Given the description of an element on the screen output the (x, y) to click on. 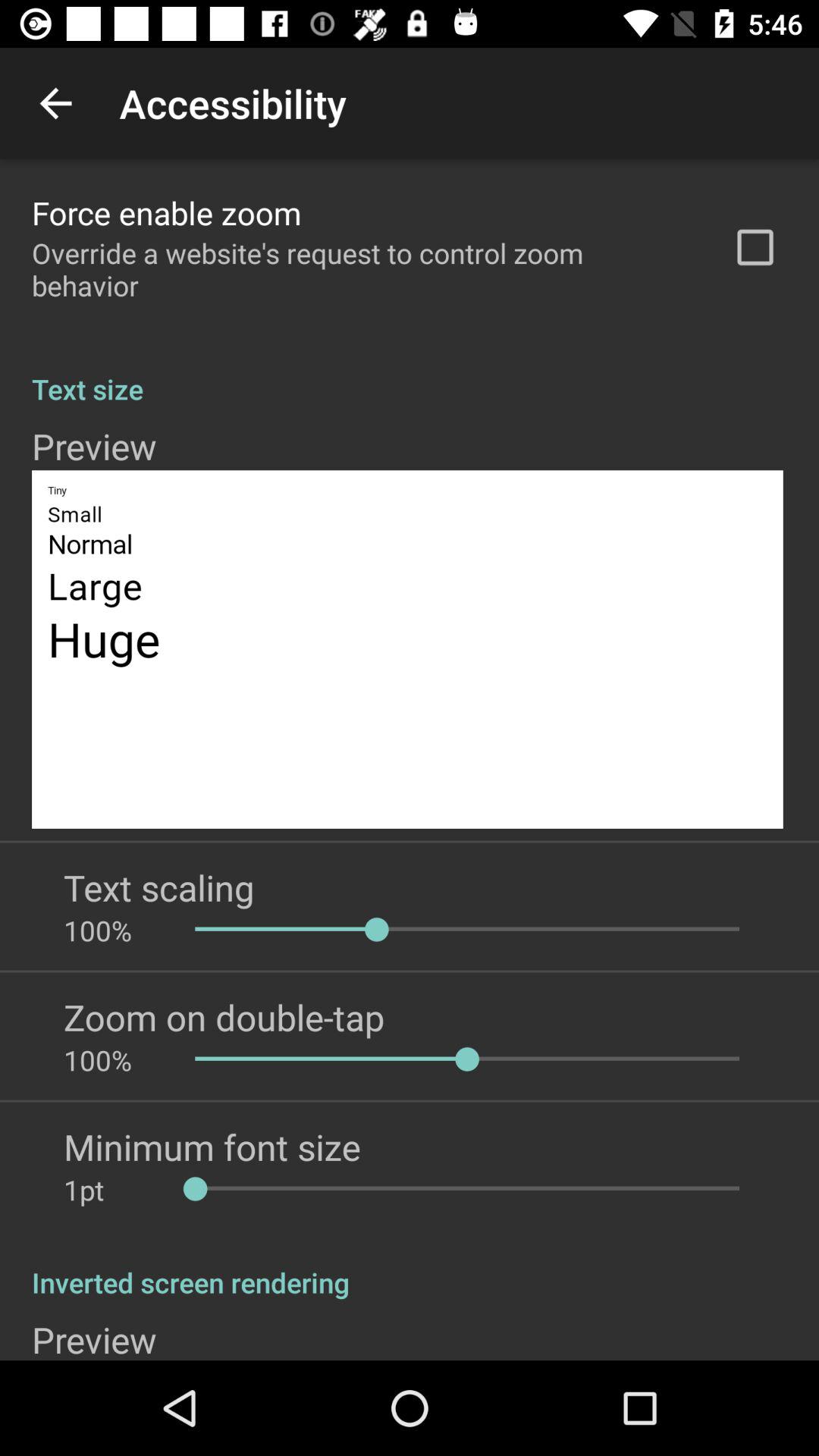
tap force enable zoom app (166, 212)
